Given the description of an element on the screen output the (x, y) to click on. 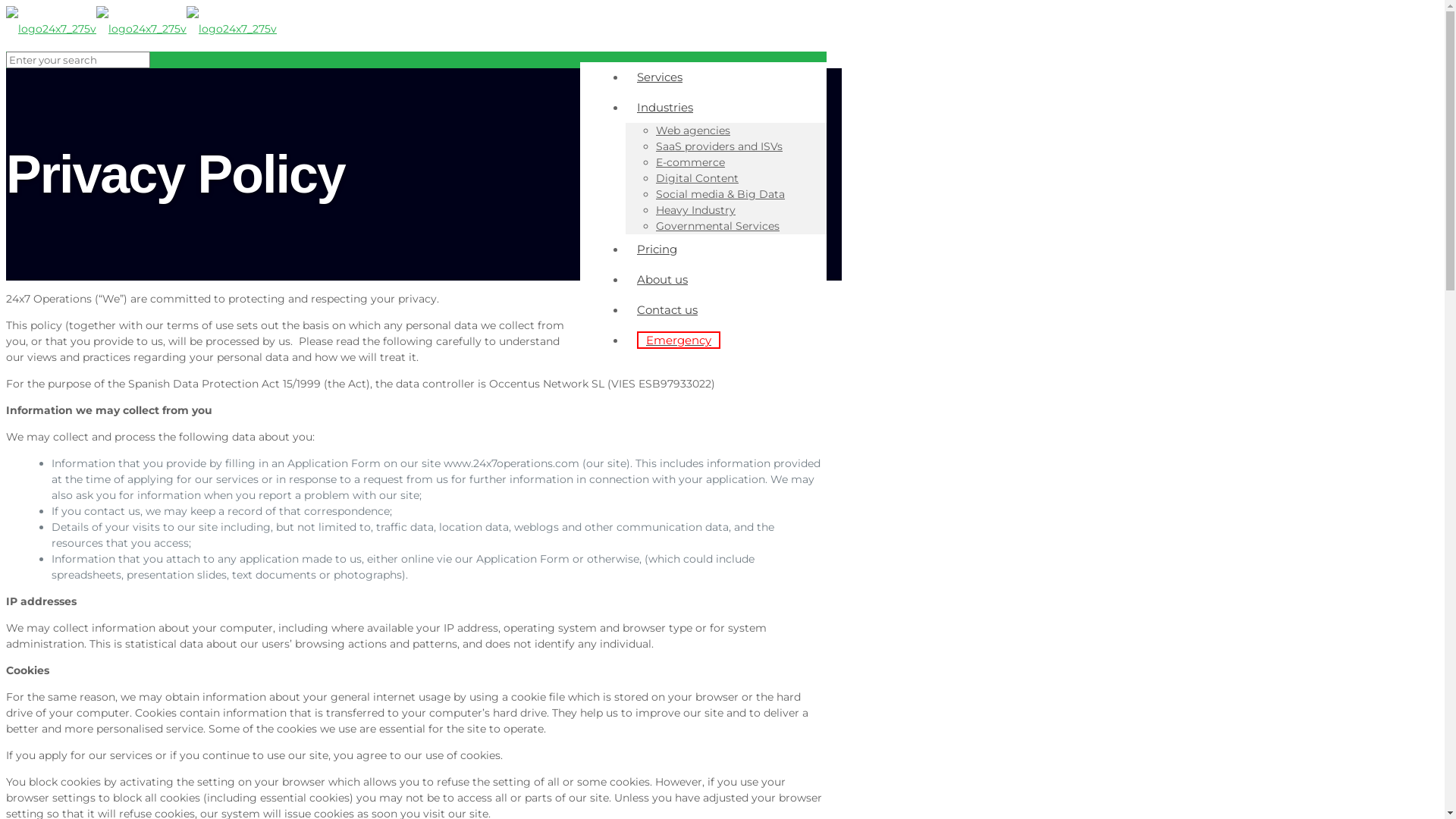
Social media & Big Data Element type: text (719, 193)
Industries Element type: text (664, 106)
Pricing Element type: text (656, 248)
Web agencies Element type: text (692, 130)
Digital Content Element type: text (696, 178)
About us Element type: text (662, 279)
E-commerce Element type: text (689, 162)
Heavy Industry Element type: text (695, 209)
Contact us Element type: text (667, 309)
Governmental Services Element type: text (717, 225)
SaaS providers and ISVs Element type: text (718, 146)
24x7 Operations Element type: hover (141, 28)
Emergency Element type: text (678, 339)
Services Element type: text (659, 76)
